Given the description of an element on the screen output the (x, y) to click on. 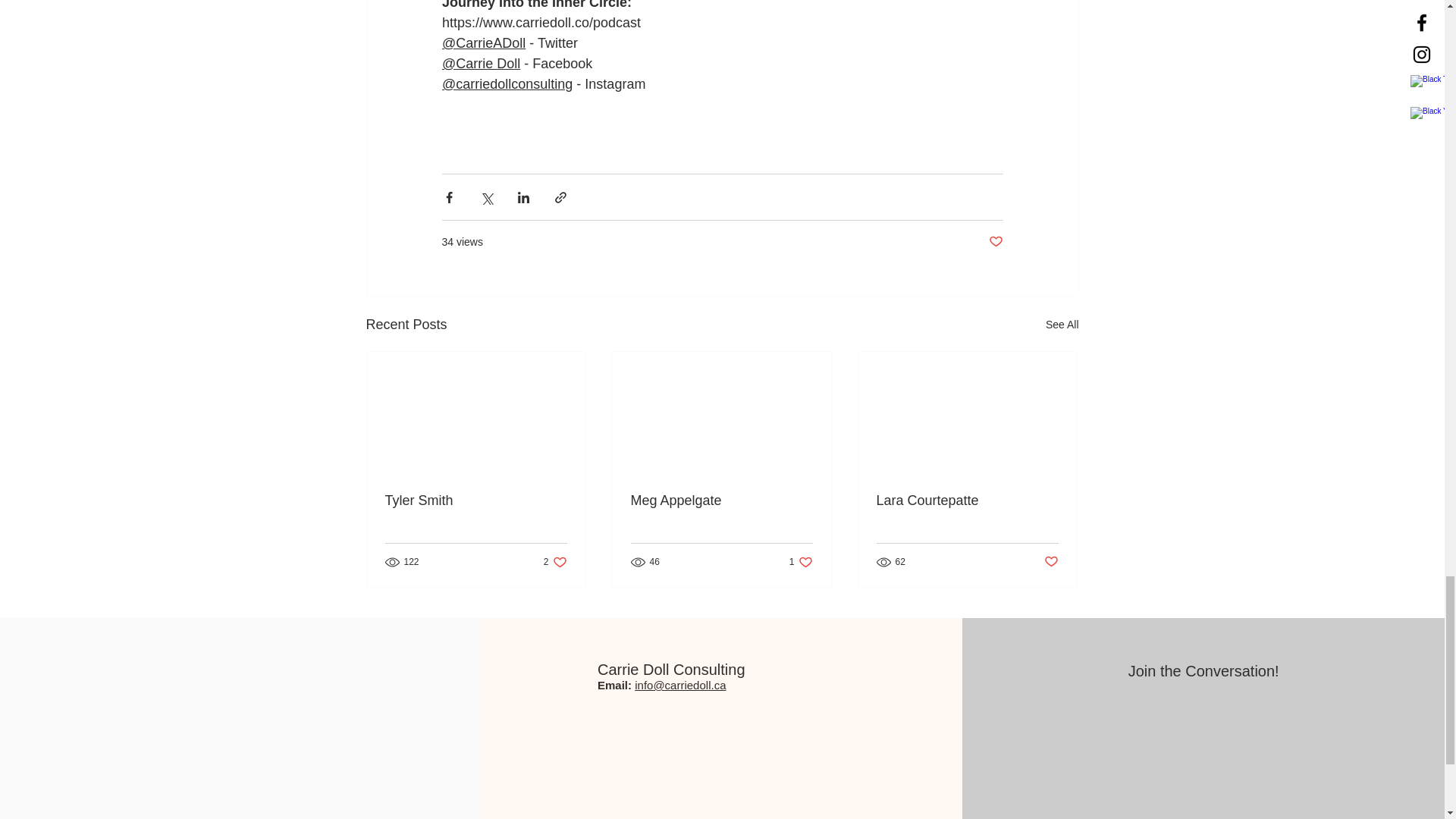
Lara Courtepatte (967, 500)
See All (1061, 324)
Post not marked as liked (1050, 561)
Meg Appelgate (721, 500)
Tyler Smith (476, 500)
Post not marked as liked (995, 242)
